Given the description of an element on the screen output the (x, y) to click on. 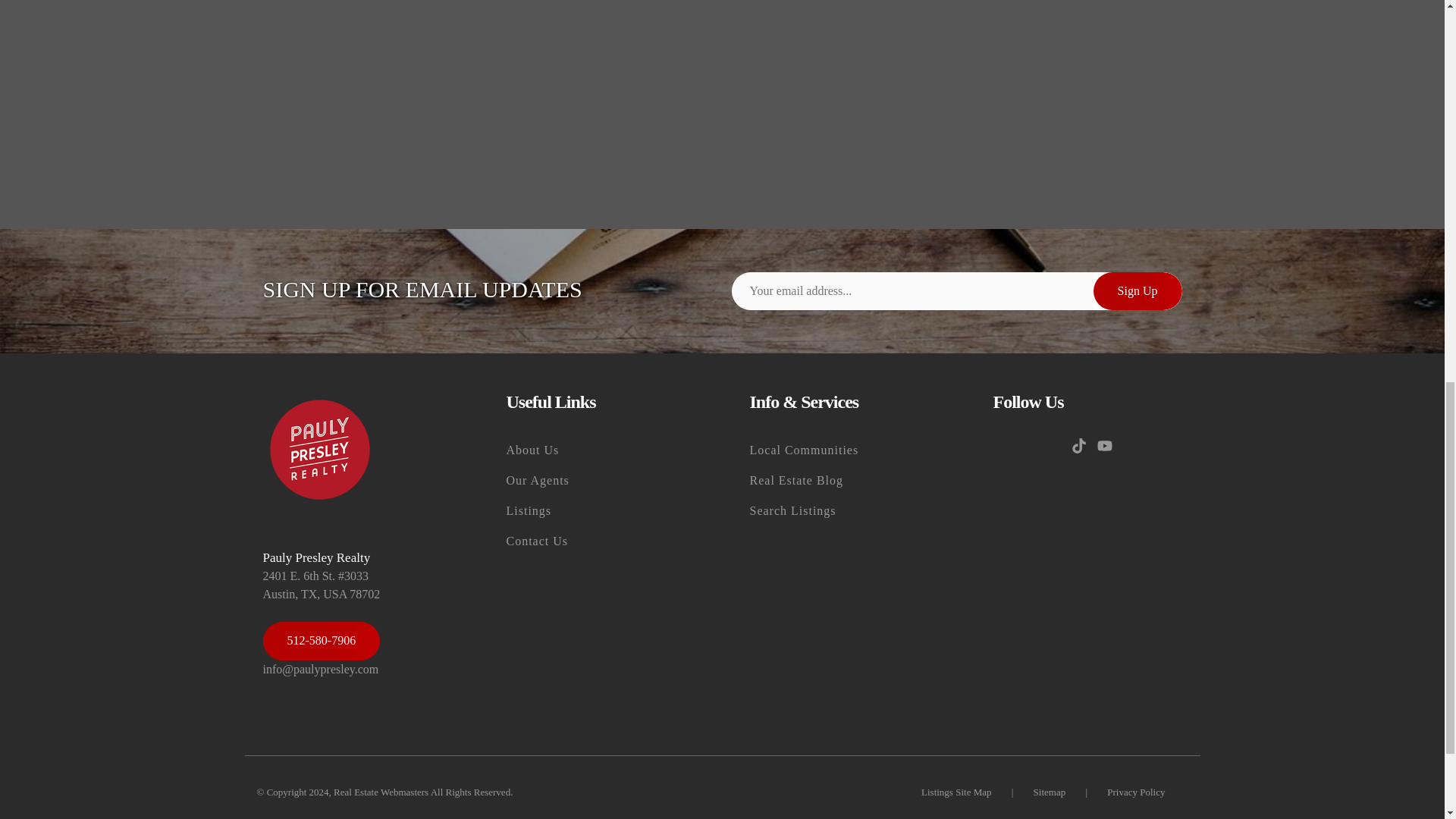
Site Logo (318, 449)
